Given the description of an element on the screen output the (x, y) to click on. 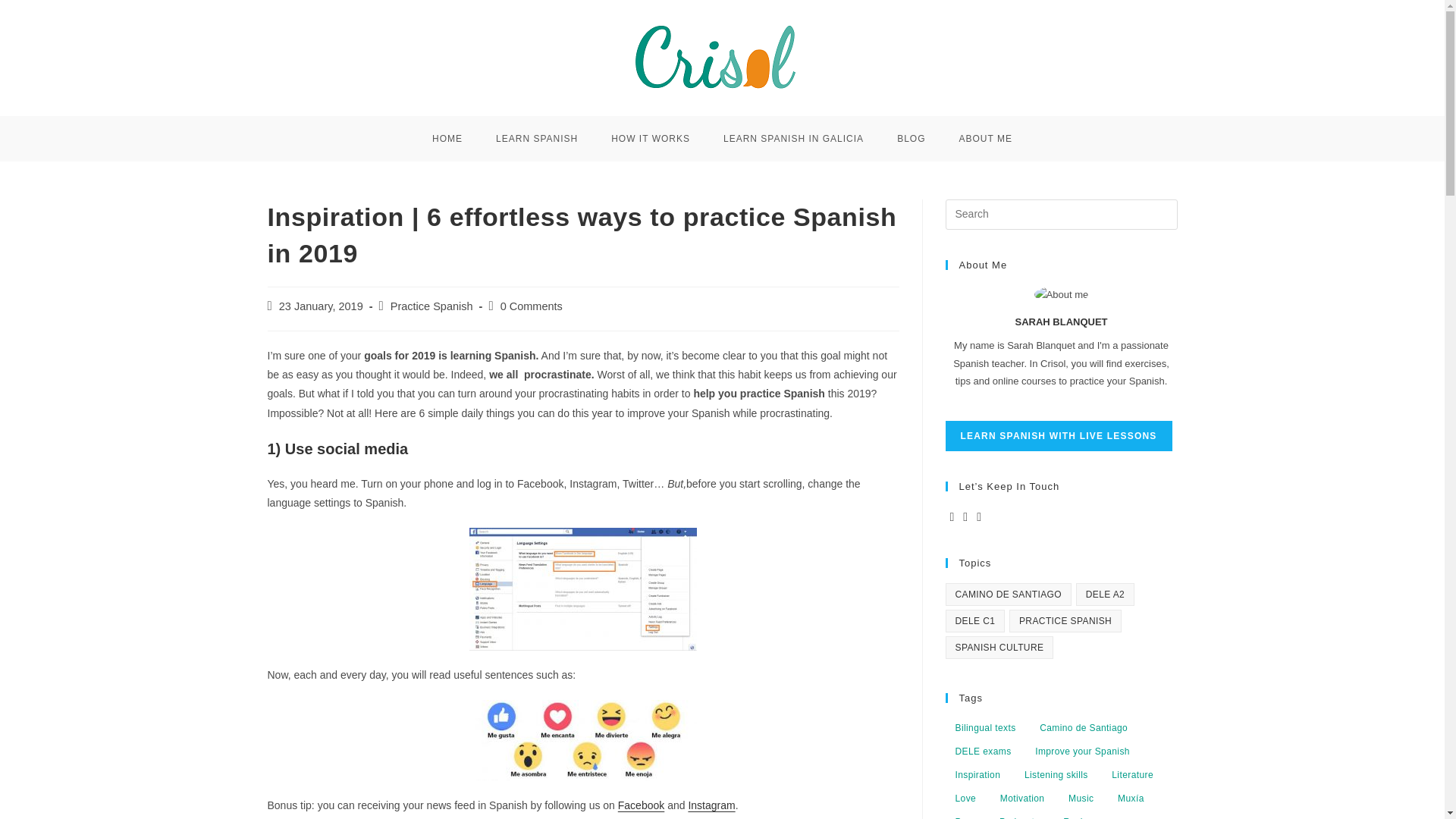
DELE C1 (974, 620)
Instagram (711, 805)
ABOUT ME (984, 138)
LEARN SPANISH (536, 138)
PRACTICE SPANISH (1065, 620)
BLOG (911, 138)
DELE A2 (1105, 594)
CAMINO DE SANTIAGO (1007, 594)
Practice Spanish (431, 306)
LEARN SPANISH IN GALICIA (793, 138)
0 Comments (531, 306)
HOW IT WORKS (650, 138)
Facebook (640, 805)
HOME (446, 138)
LEARN SPANISH WITH LIVE LESSONS (1058, 435)
